Given the description of an element on the screen output the (x, y) to click on. 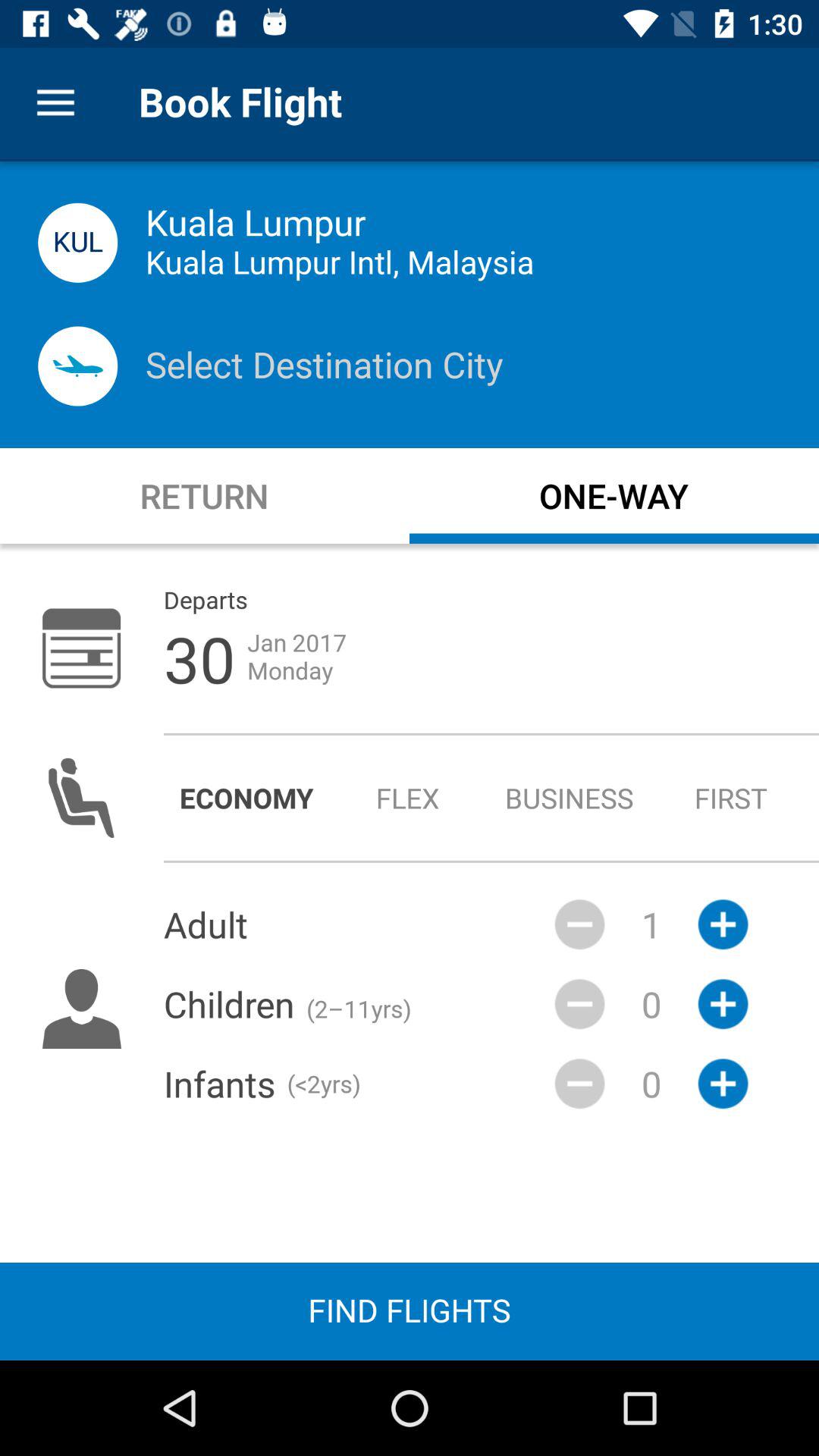
choose item next to the business radio button (731, 797)
